Given the description of an element on the screen output the (x, y) to click on. 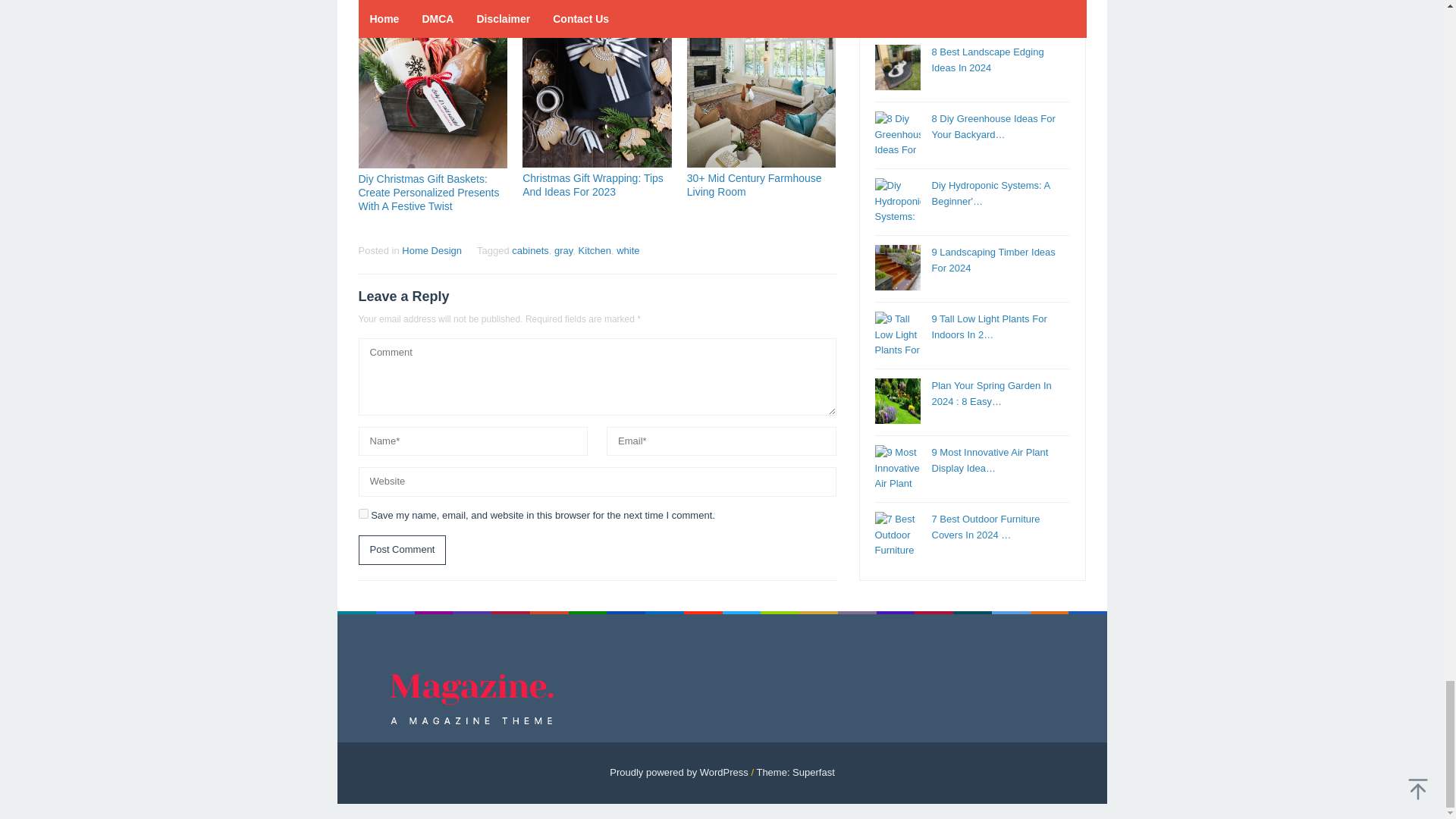
Home Design (431, 250)
gray (563, 250)
Post Comment (401, 550)
white (627, 250)
Christmas Gift Wrapping: Tips And Ideas For 2023 (592, 184)
Kitchen (594, 250)
yes (363, 513)
Post Comment (401, 550)
cabinets (530, 250)
Proudly powered by WordPress (679, 772)
